Given the description of an element on the screen output the (x, y) to click on. 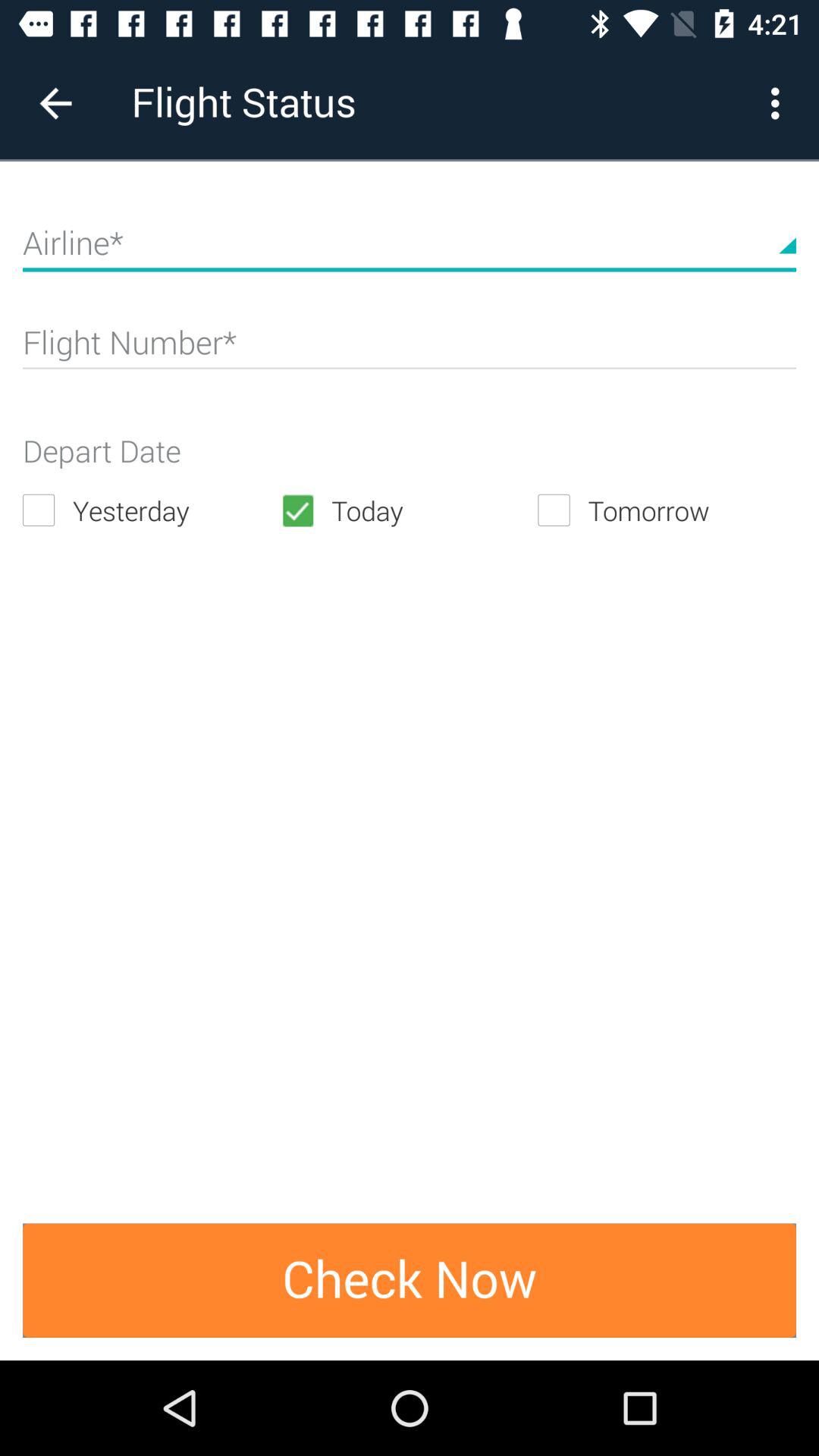
turn on the icon to the right of yesterday (409, 510)
